Given the description of an element on the screen output the (x, y) to click on. 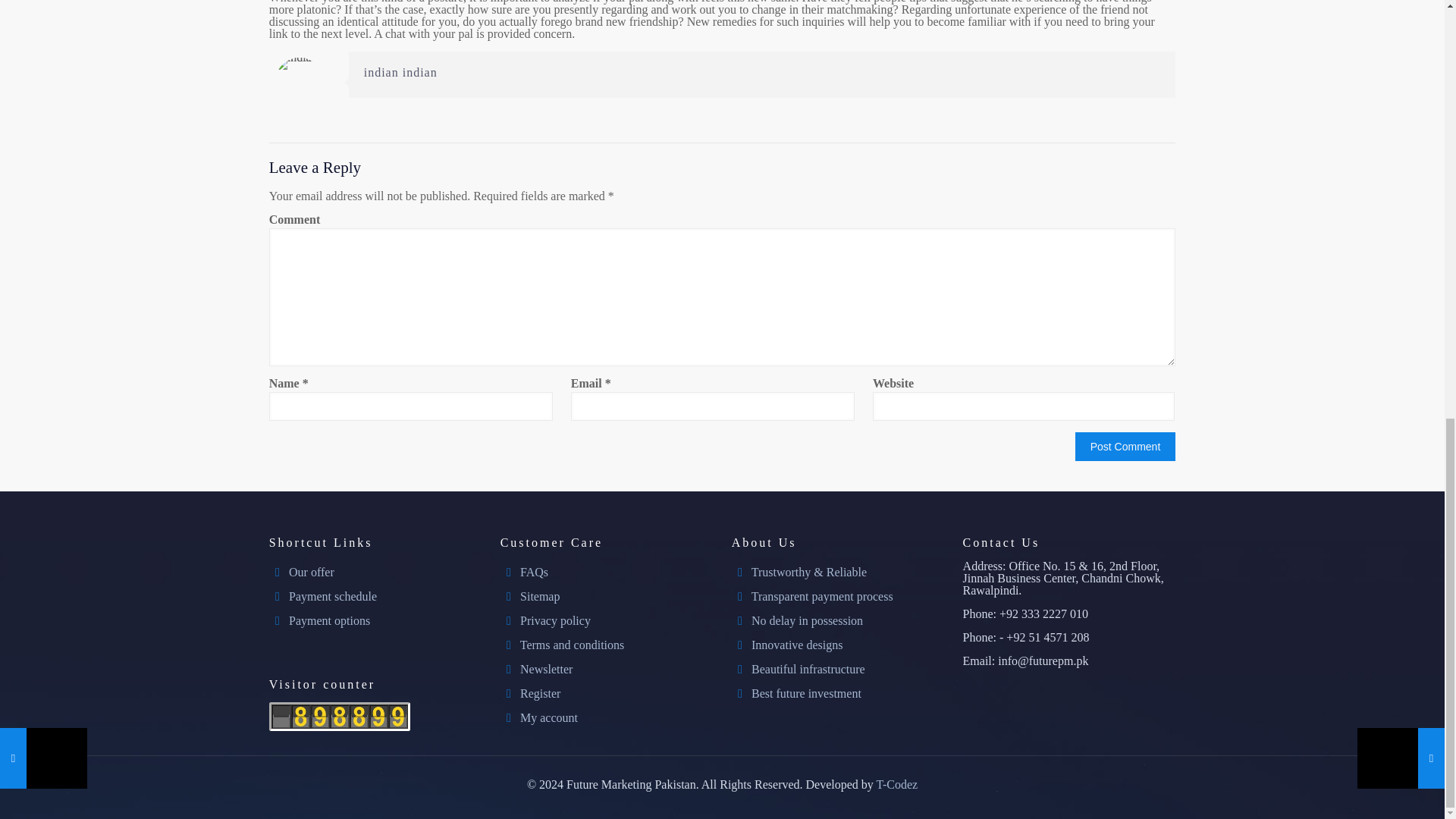
Our offer (311, 571)
My account (548, 717)
T-Codez (897, 784)
Transparent payment process (822, 595)
Sitemap (539, 595)
Best future investment (806, 693)
Payment schedule (332, 595)
Post Comment (1125, 446)
Beautiful infrastructure (807, 668)
Privacy policy (555, 620)
Innovative designs (797, 644)
FAQs (533, 571)
Newsletter (545, 668)
Post Comment (1125, 446)
indian indian (401, 72)
